Given the description of an element on the screen output the (x, y) to click on. 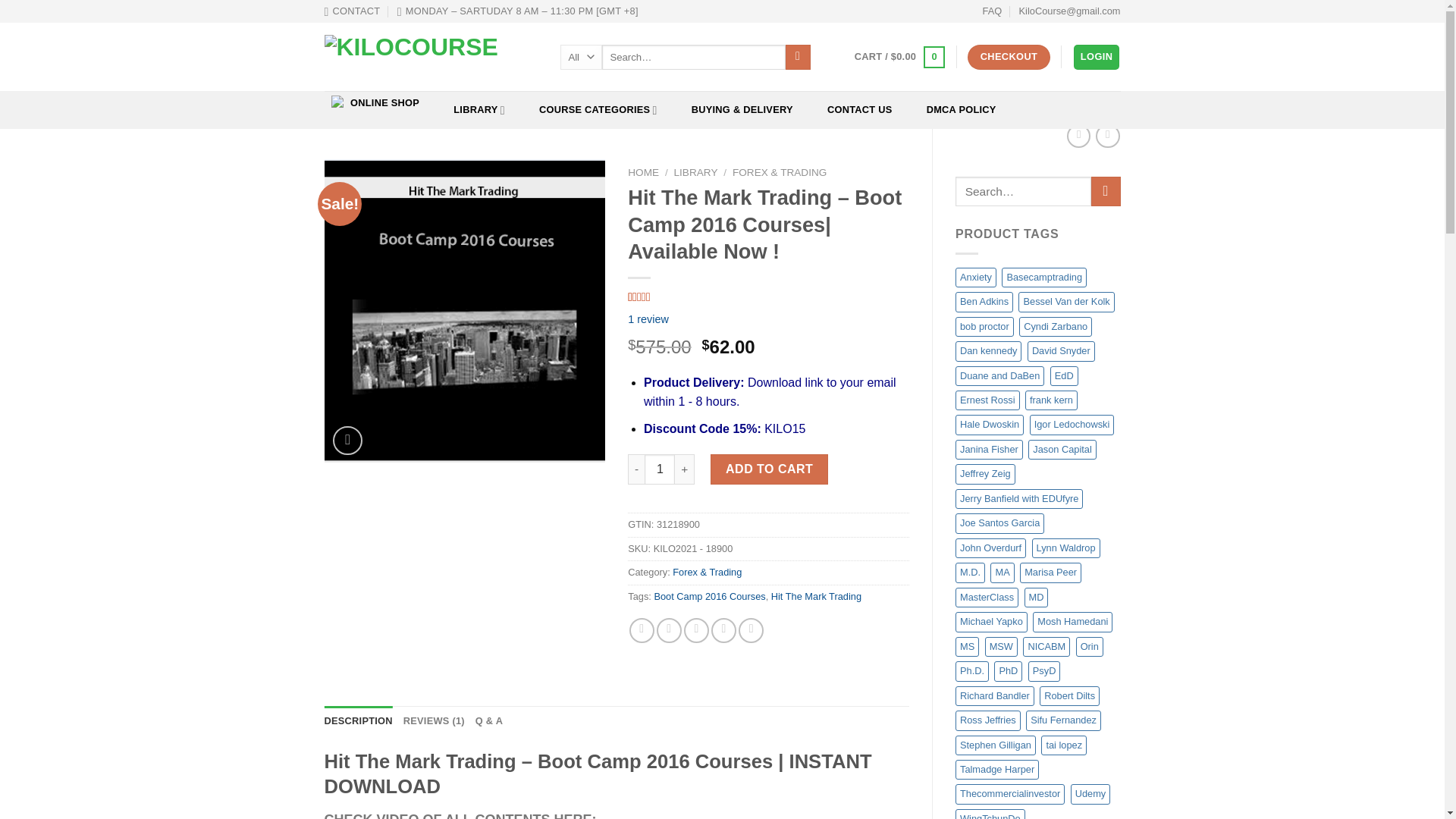
KILOCOURSE - Best Discounted Course Shop (430, 57)
Anxiety (975, 277)
Basecamptrading (1043, 277)
FAQ (992, 11)
Search (798, 57)
Zoom (347, 440)
ONLINE SHOP (375, 102)
COURSE CATEGORIES (597, 109)
Bessel Van der Kolk (1065, 301)
CONTACT (352, 11)
Ben Adkins (984, 301)
CHECKOUT (1008, 57)
DMCA POLICY (960, 109)
Cart (899, 57)
CONTACT US (859, 109)
